Given the description of an element on the screen output the (x, y) to click on. 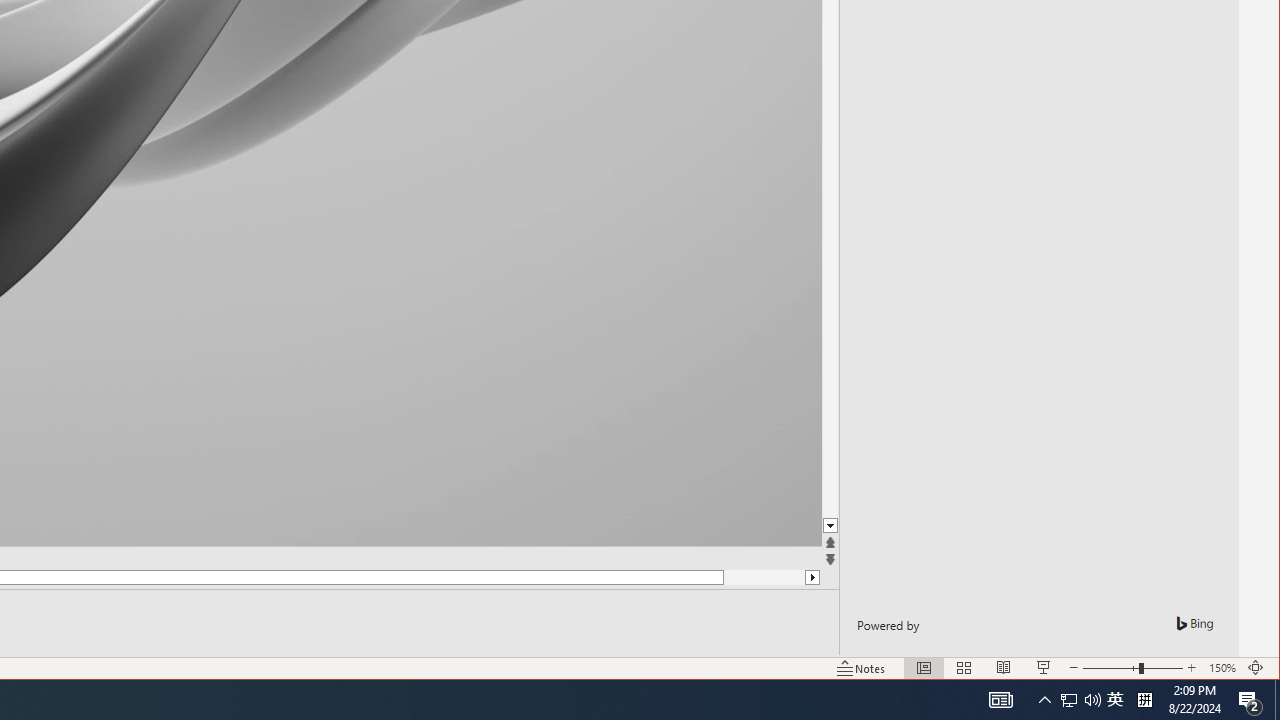
AutomationID: 4105 (1000, 699)
Show desktop (1277, 699)
Q2790: 100% (1092, 699)
Notification Chevron (1044, 699)
Page down (764, 577)
Action Center, 2 new notifications (1250, 699)
User Promoted Notification Area (1080, 699)
Line down (942, 525)
Zoom 150% (1222, 668)
